Given the description of an element on the screen output the (x, y) to click on. 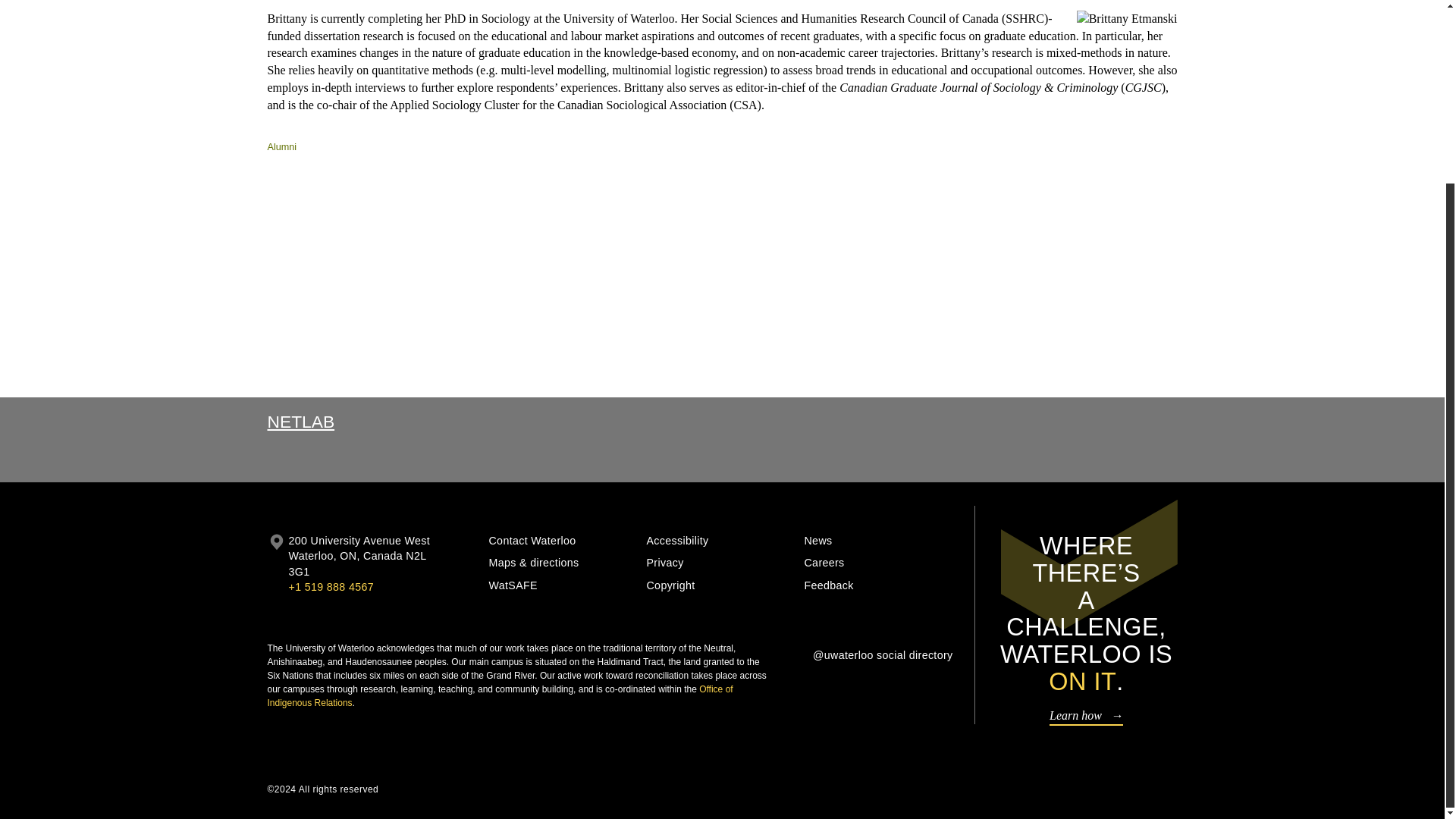
Copyright (719, 585)
Contact Waterloo (560, 540)
News (876, 540)
Accessibility (719, 540)
Careers (876, 562)
WatSAFE (560, 585)
NETLAB (300, 421)
Feedback (876, 585)
Office of Indigenous Relations (499, 695)
Privacy (719, 562)
